Given the description of an element on the screen output the (x, y) to click on. 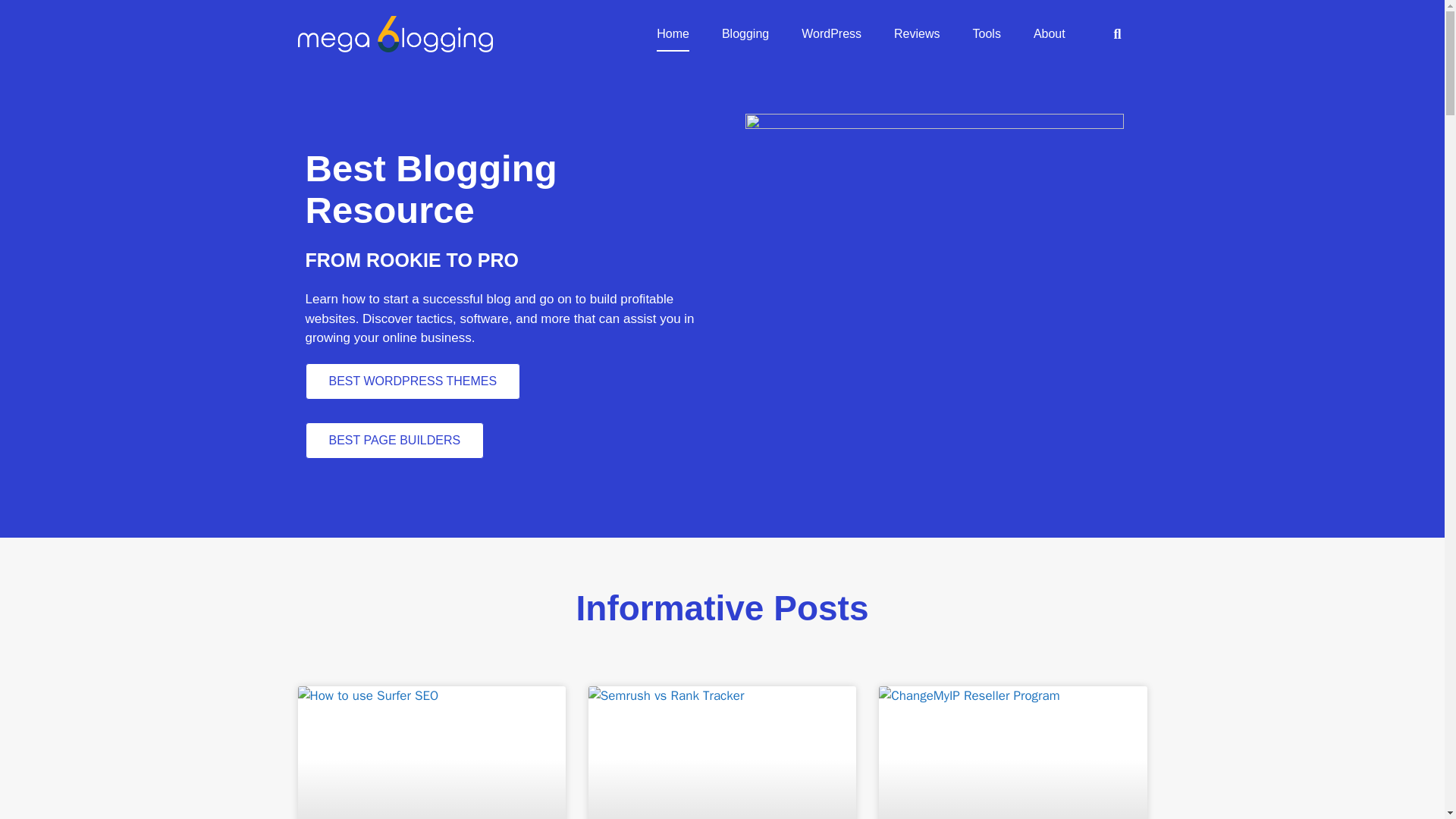
Home (672, 33)
Reviews (916, 33)
Blogging (745, 33)
BEST WORDPRESS THEMES (411, 380)
WordPress (831, 33)
About (1049, 33)
